Given the description of an element on the screen output the (x, y) to click on. 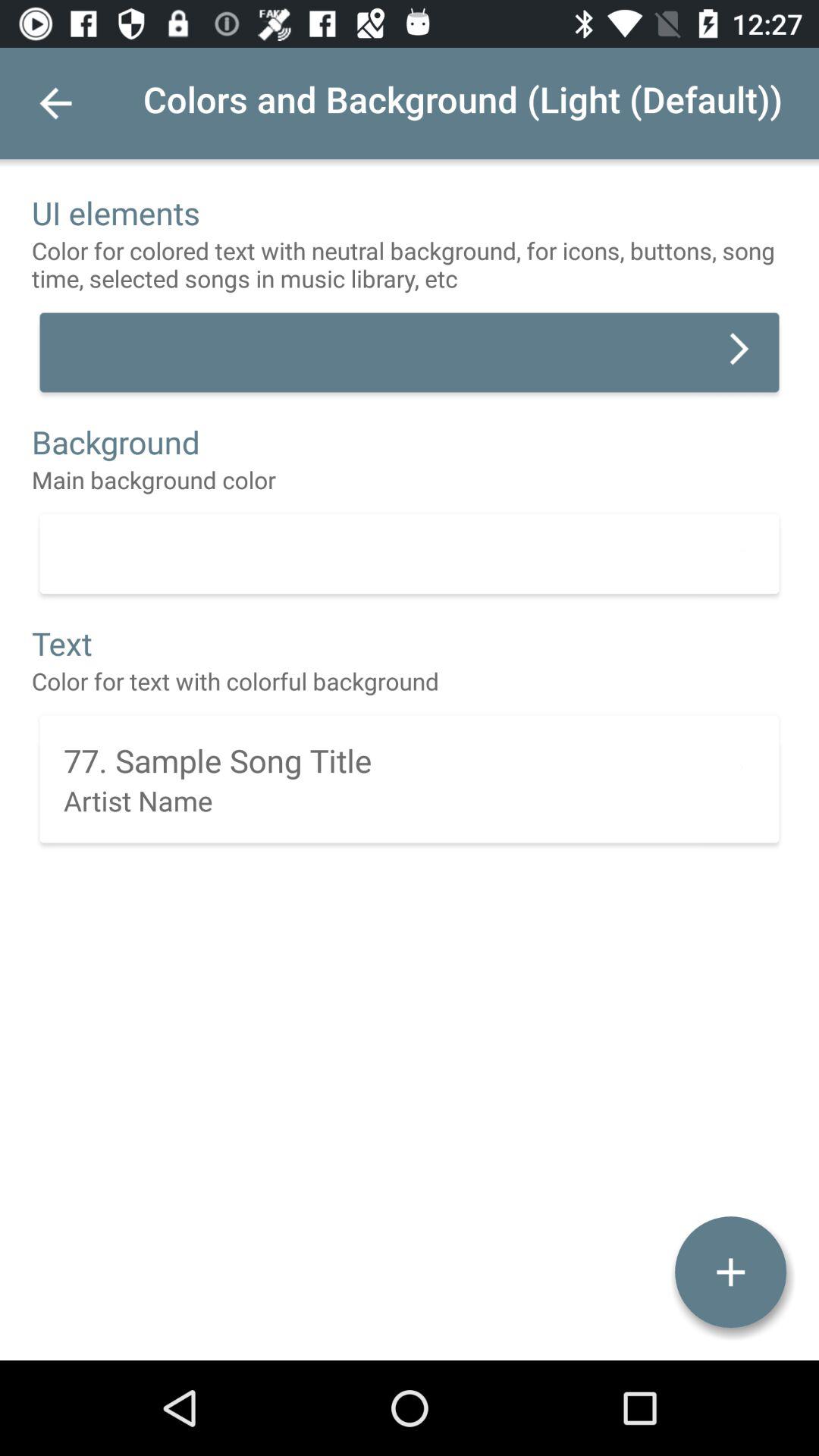
open item at the bottom right corner (730, 1272)
